Given the description of an element on the screen output the (x, y) to click on. 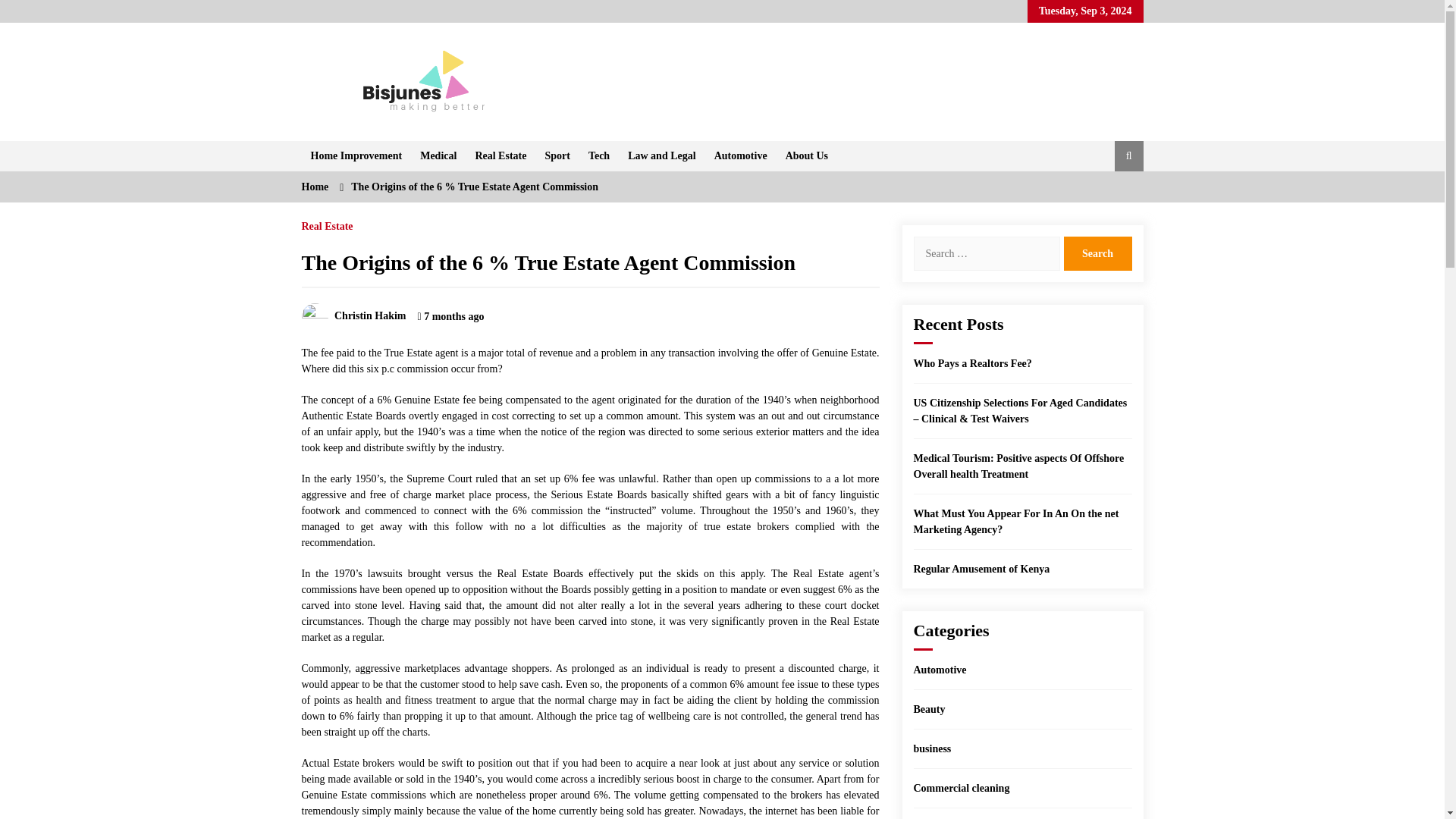
About Us (806, 155)
Real Estate (500, 155)
Real Estate (327, 222)
Medical (437, 155)
Sport (556, 155)
Christin Hakim (353, 315)
Search (1096, 253)
Automotive (740, 155)
Home (315, 186)
Tech (598, 155)
